Given the description of an element on the screen output the (x, y) to click on. 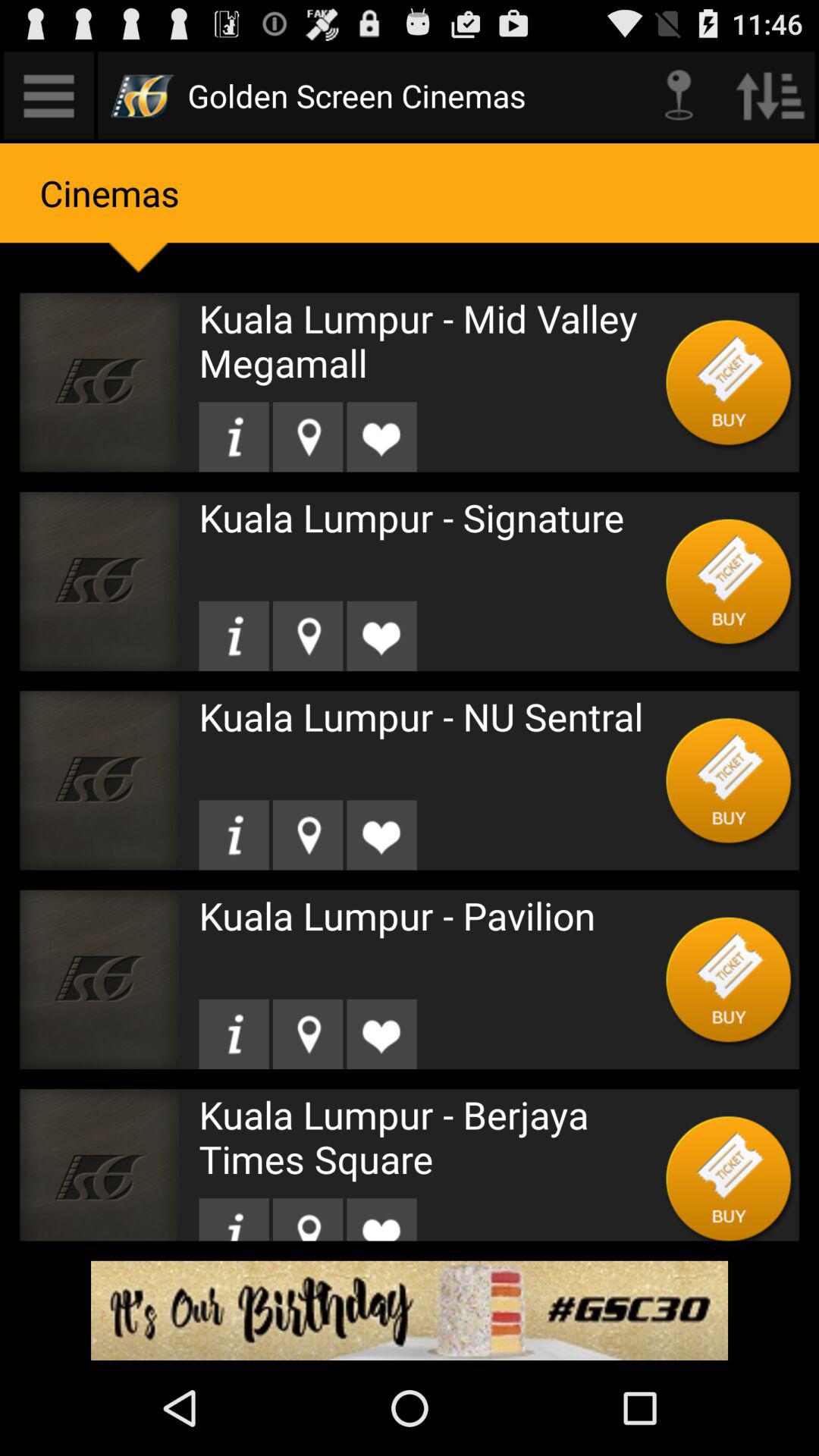
like item (381, 437)
